Given the description of an element on the screen output the (x, y) to click on. 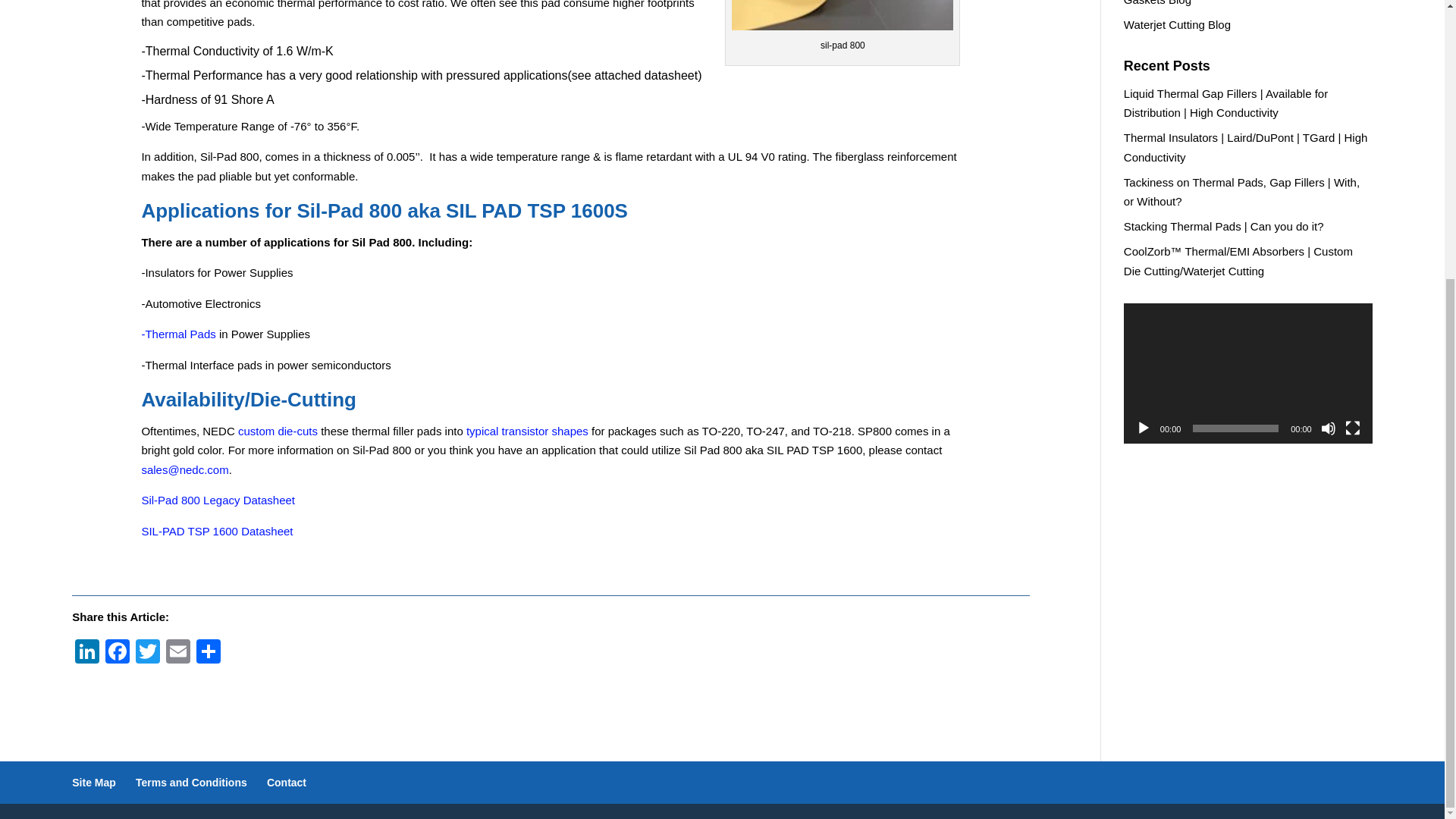
Fullscreen (1352, 427)
Play (1143, 427)
Facebook (116, 653)
Twitter (147, 653)
Email (178, 653)
Mute (1328, 427)
LinkedIn (86, 653)
